Given the description of an element on the screen output the (x, y) to click on. 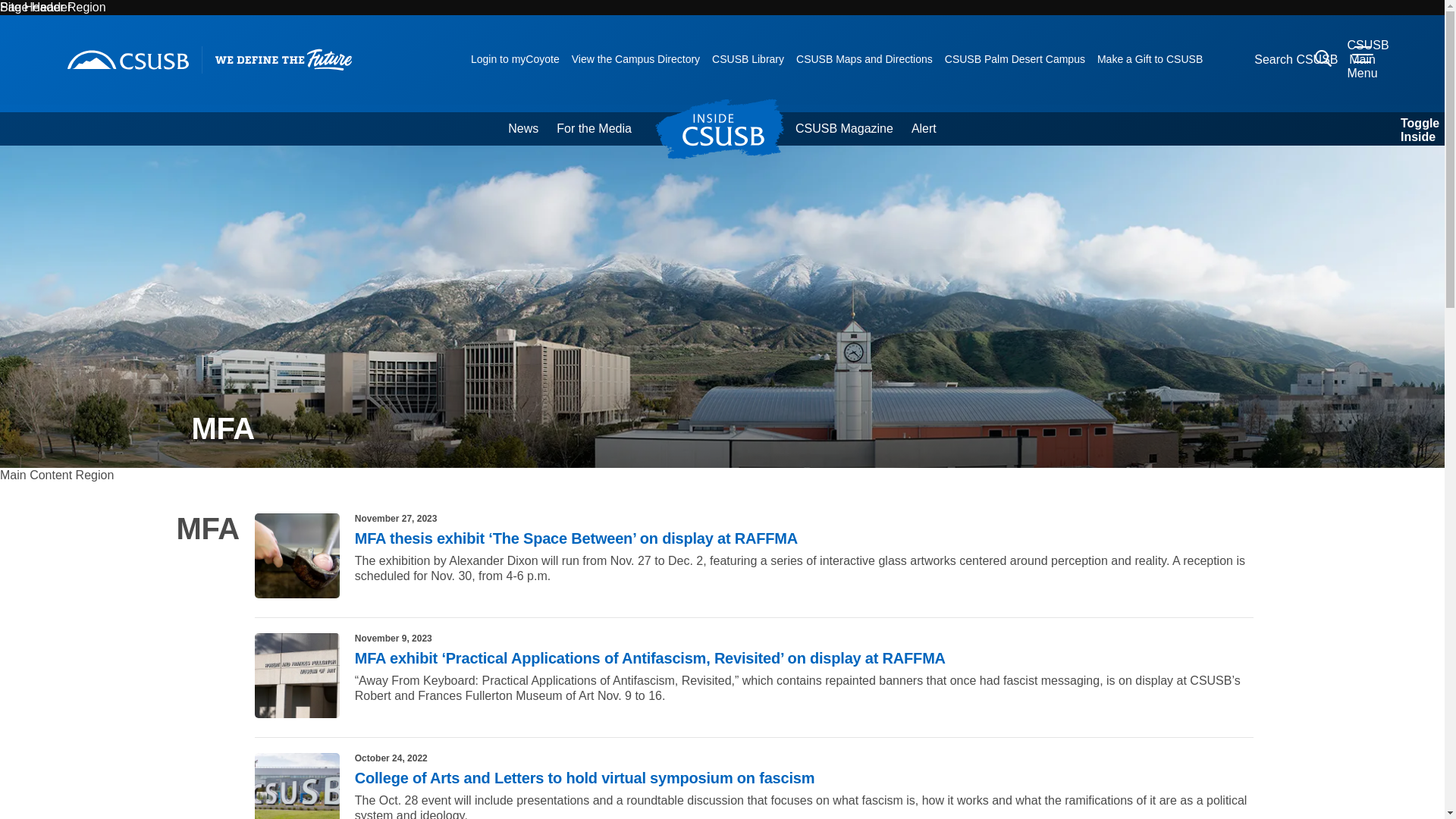
Expand Inside Search (1412, 128)
Inside CSUSB home (727, 128)
Home (126, 59)
Search CSUSB (1323, 57)
